Given the description of an element on the screen output the (x, y) to click on. 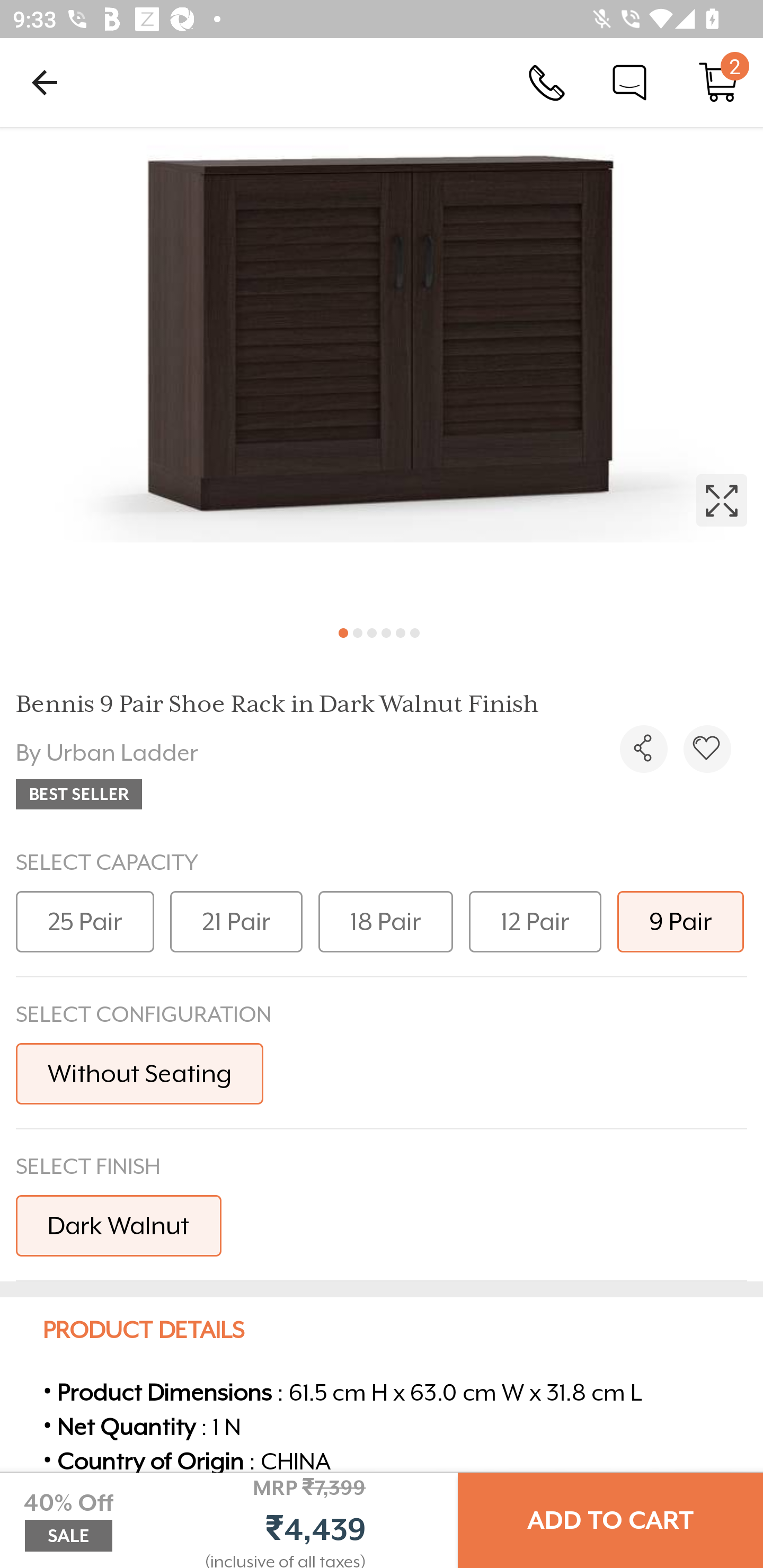
Navigate up (44, 82)
Call Us (546, 81)
Chat (629, 81)
Cart (718, 81)
 (381, 370)
 (643, 748)
 (706, 748)
25 Pair (85, 920)
21 Pair (236, 920)
18 Pair (385, 920)
12 Pair (535, 920)
9 Pair (680, 920)
Without Seating (139, 1072)
Dark Walnut (118, 1224)
ADD TO CART (610, 1520)
